Given the description of an element on the screen output the (x, y) to click on. 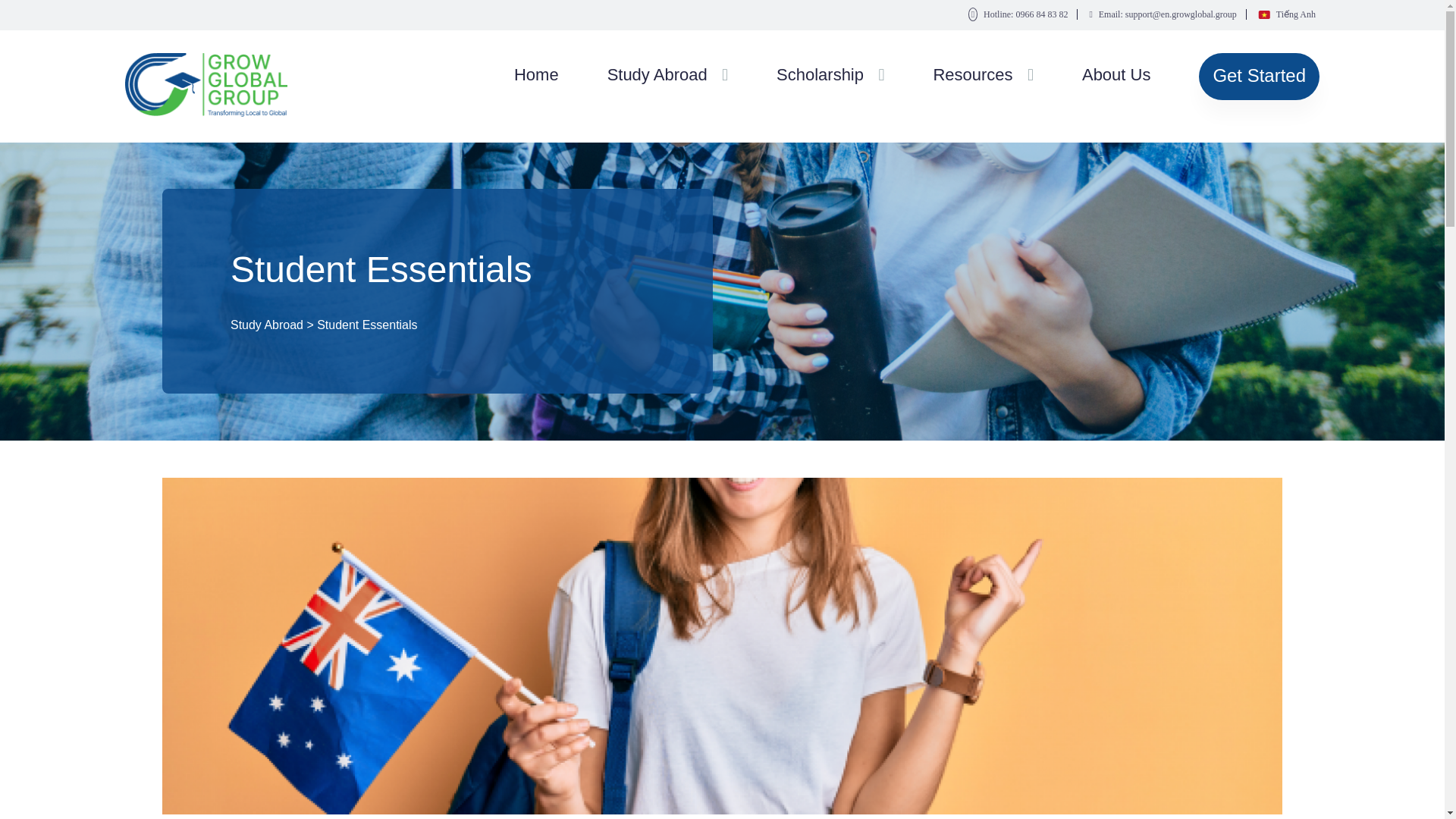
Resources (972, 76)
Home (536, 76)
About Us (1115, 76)
Study Abroad (657, 76)
Scholarship (819, 76)
Hotline: 0966 84 83 82 (1018, 14)
Get Started (1259, 75)
